Given the description of an element on the screen output the (x, y) to click on. 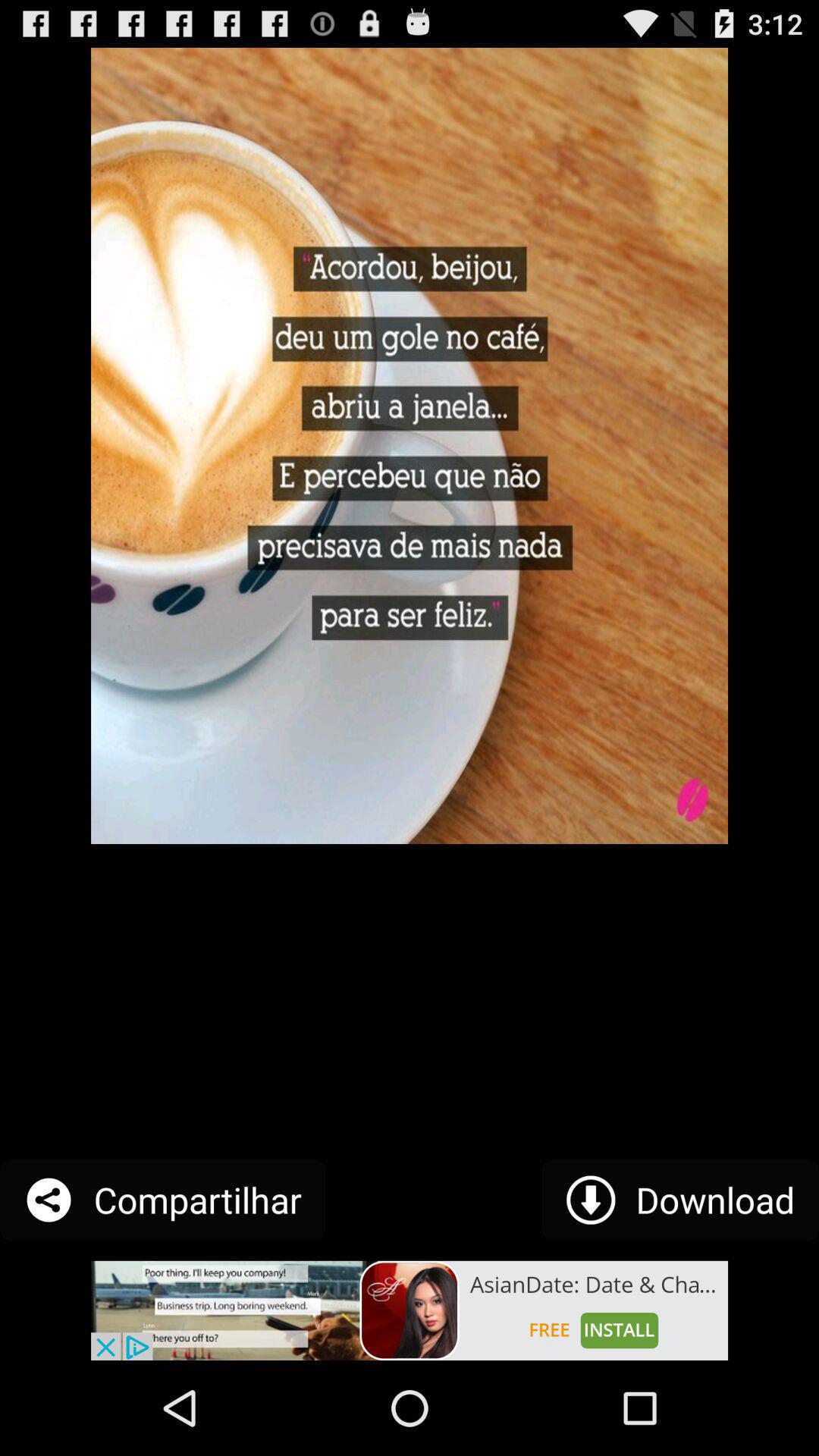
go to advertisement (409, 1310)
